Given the description of an element on the screen output the (x, y) to click on. 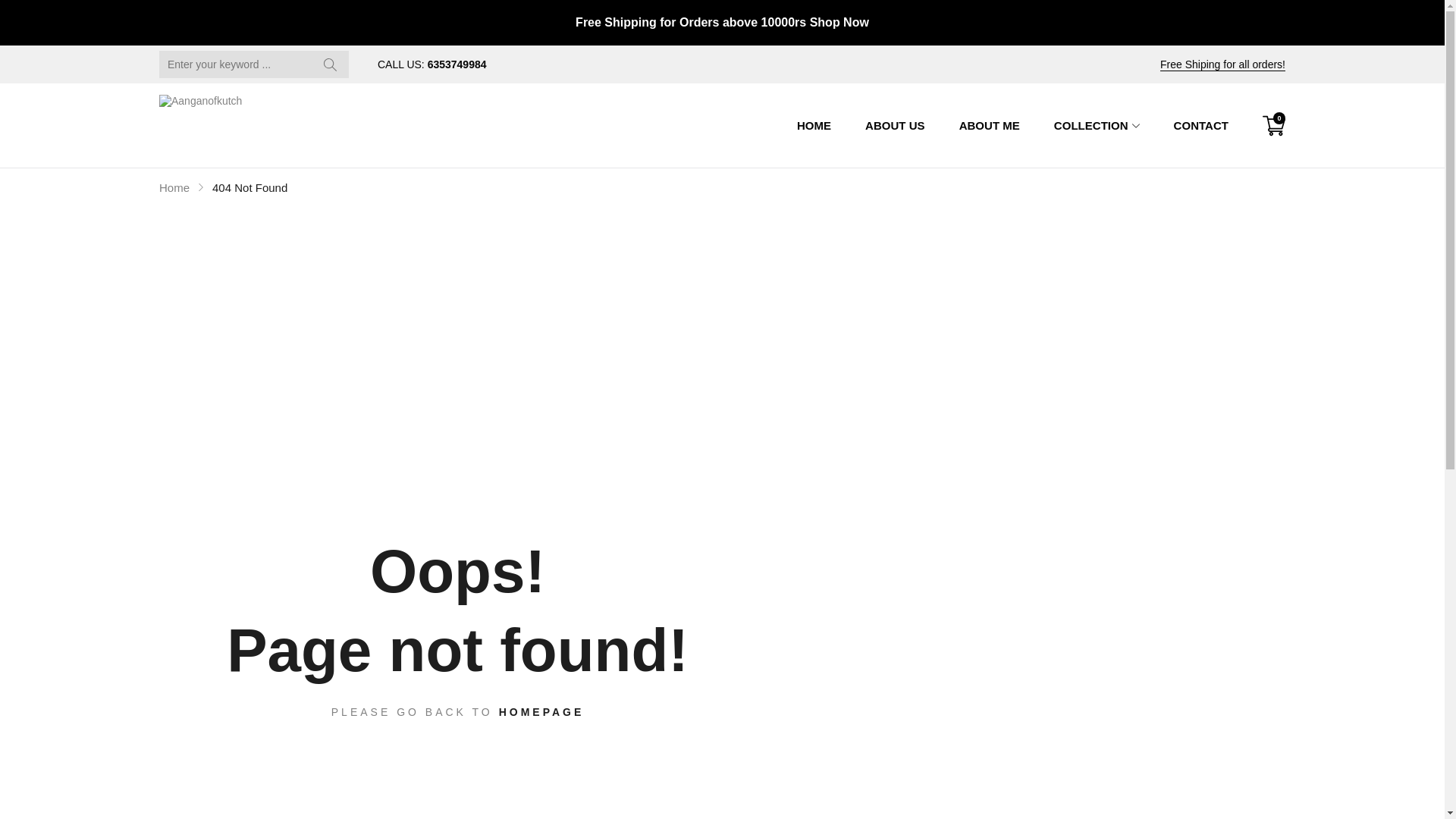
ABOUT US (894, 125)
ABOUT ME (989, 125)
CONTACT (1199, 125)
PLEASE GO BACK TO HOMEPAGE (458, 711)
Shop Now (839, 21)
Home (173, 186)
COLLECTION (1095, 125)
Back to the frontpage (173, 186)
